Given the description of an element on the screen output the (x, y) to click on. 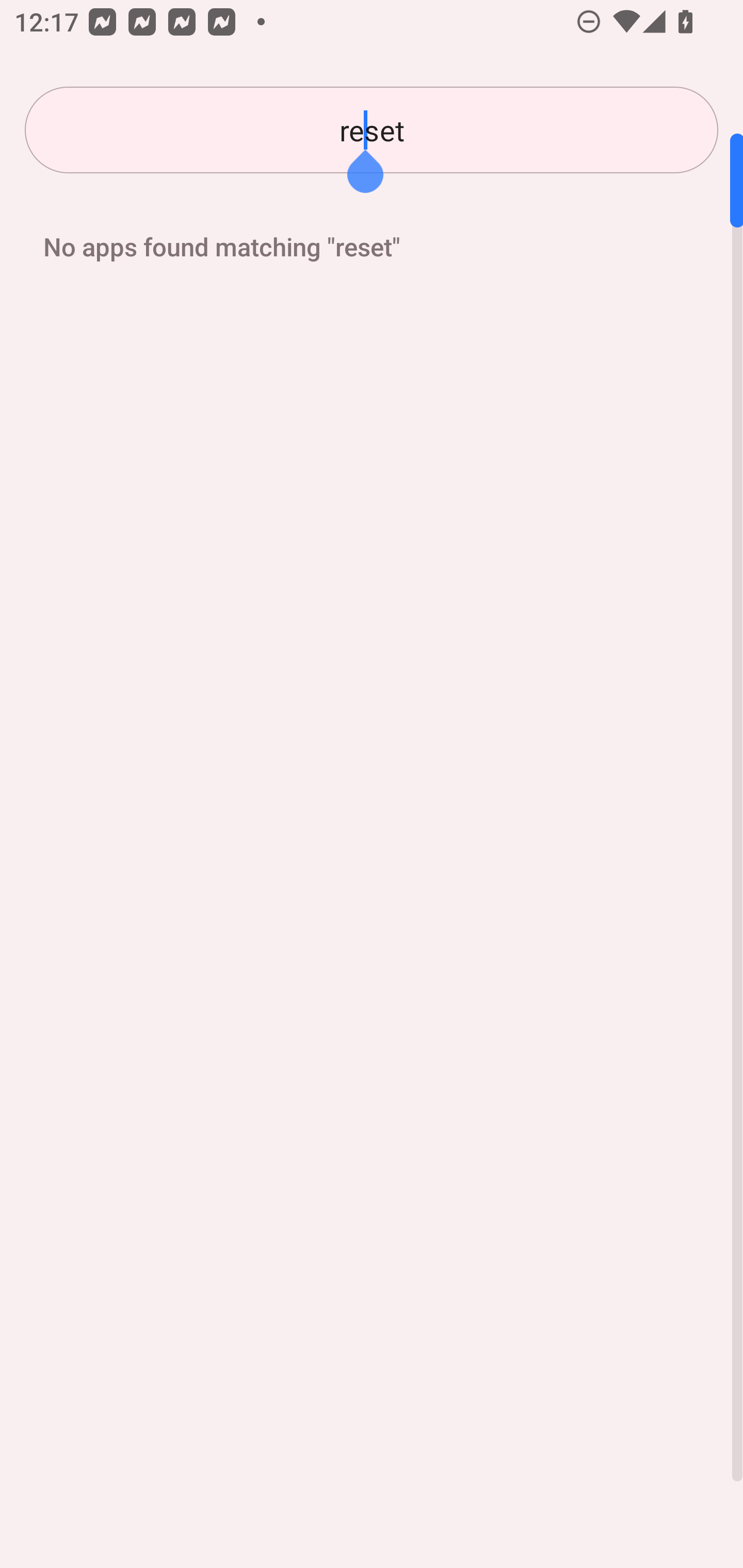
reset (371, 130)
